Given the description of an element on the screen output the (x, y) to click on. 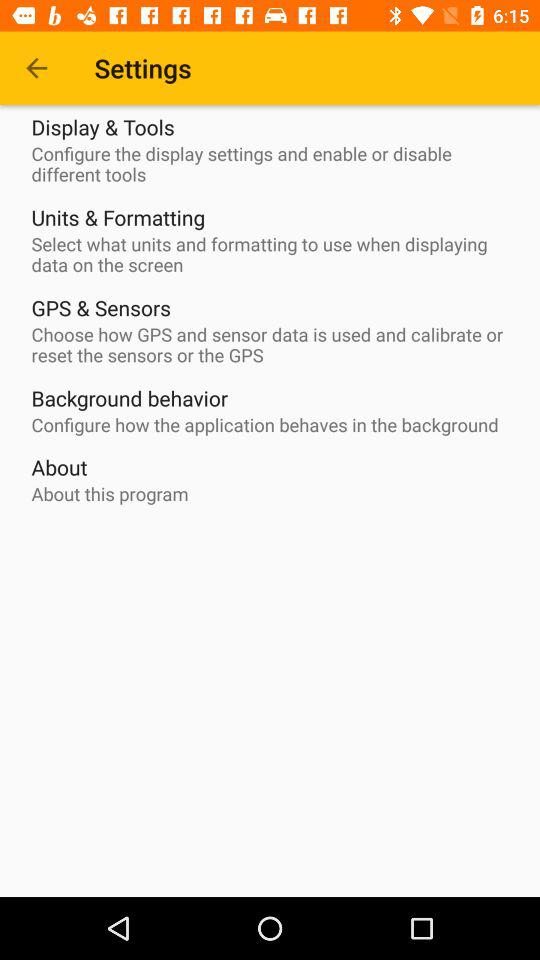
select the item below units & formatting (275, 254)
